Given the description of an element on the screen output the (x, y) to click on. 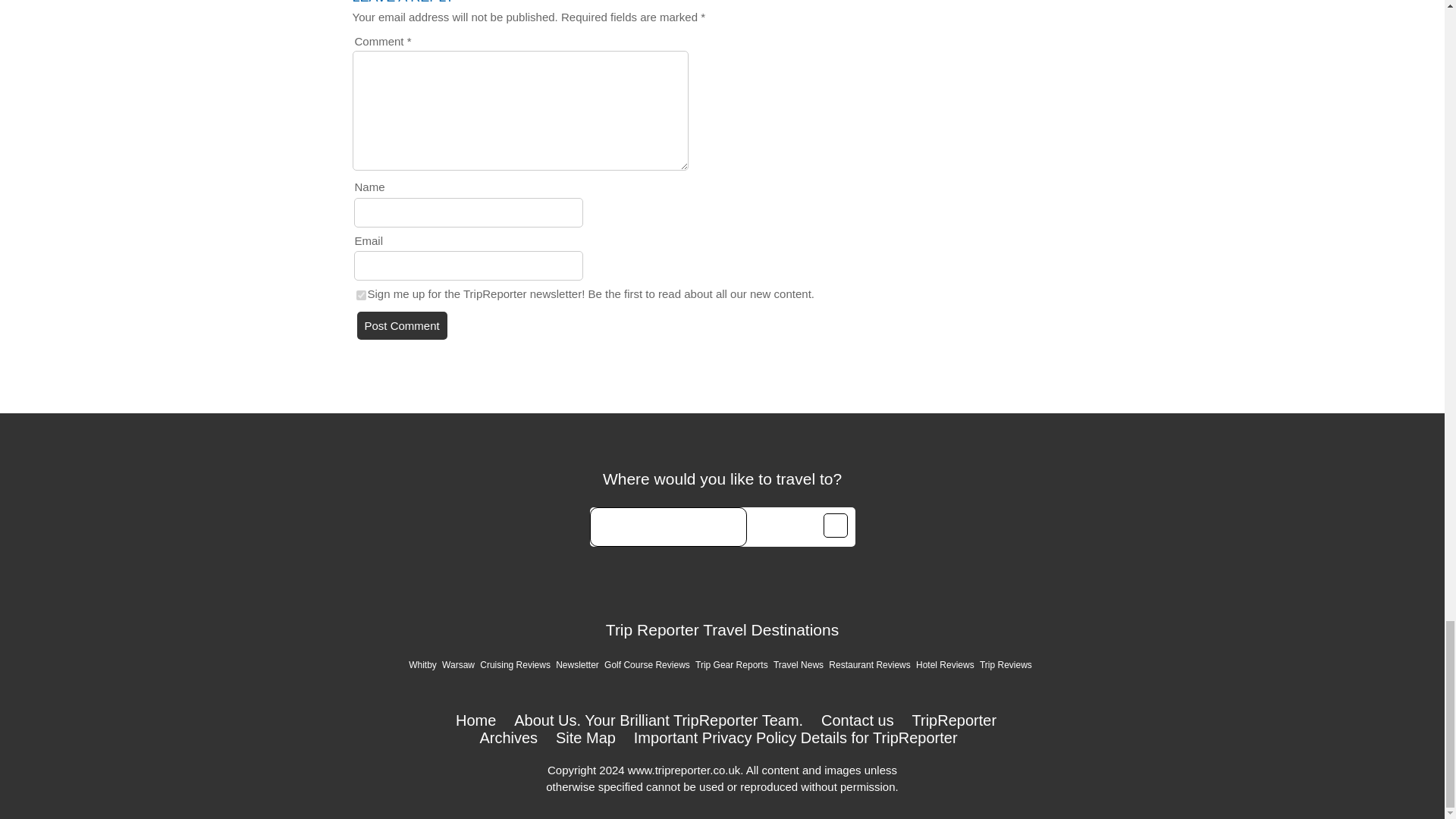
Post Comment (401, 325)
Search (835, 525)
1 (361, 295)
